Given the description of an element on the screen output the (x, y) to click on. 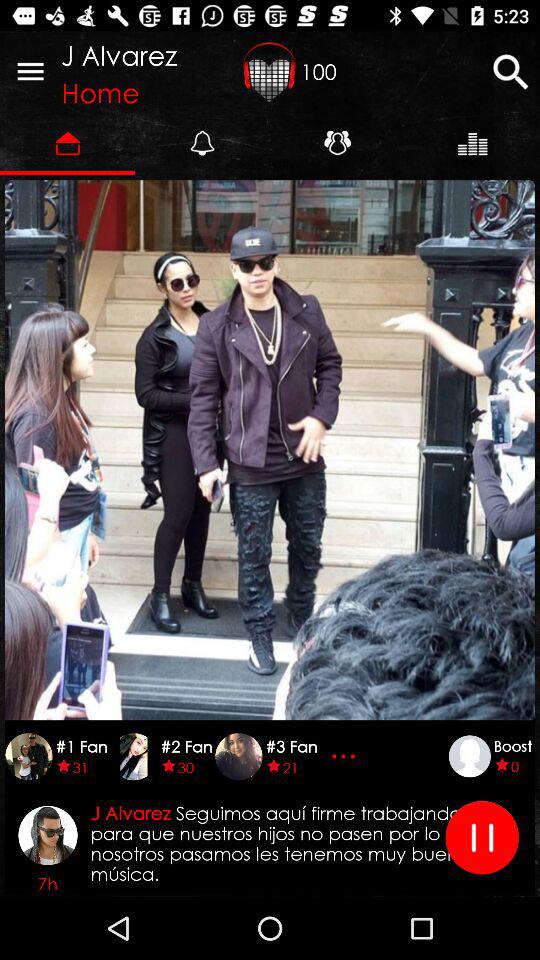
click to menu option (30, 71)
